Given the description of an element on the screen output the (x, y) to click on. 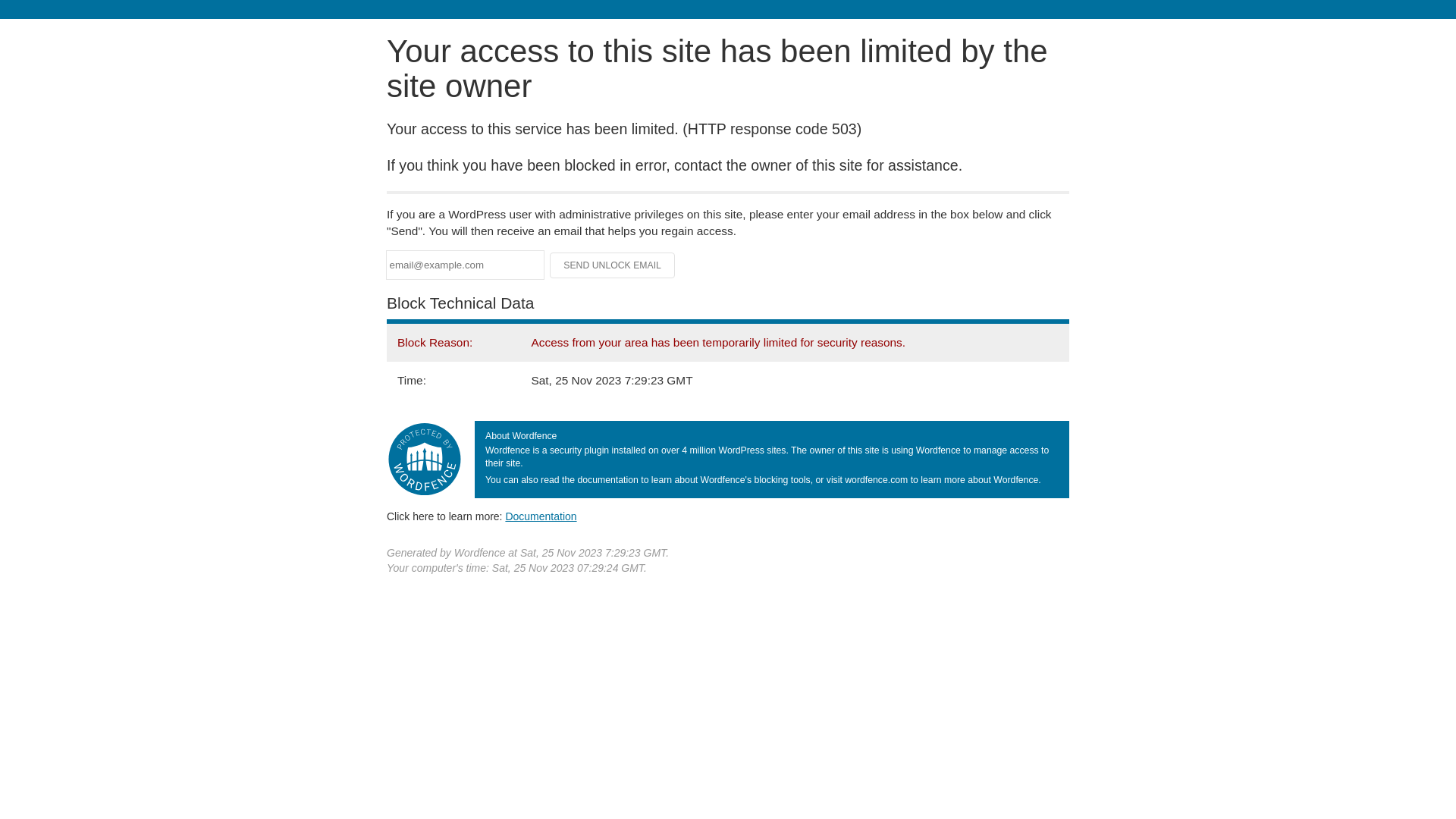
Documentation Element type: text (540, 516)
Send Unlock Email Element type: text (612, 265)
